Given the description of an element on the screen output the (x, y) to click on. 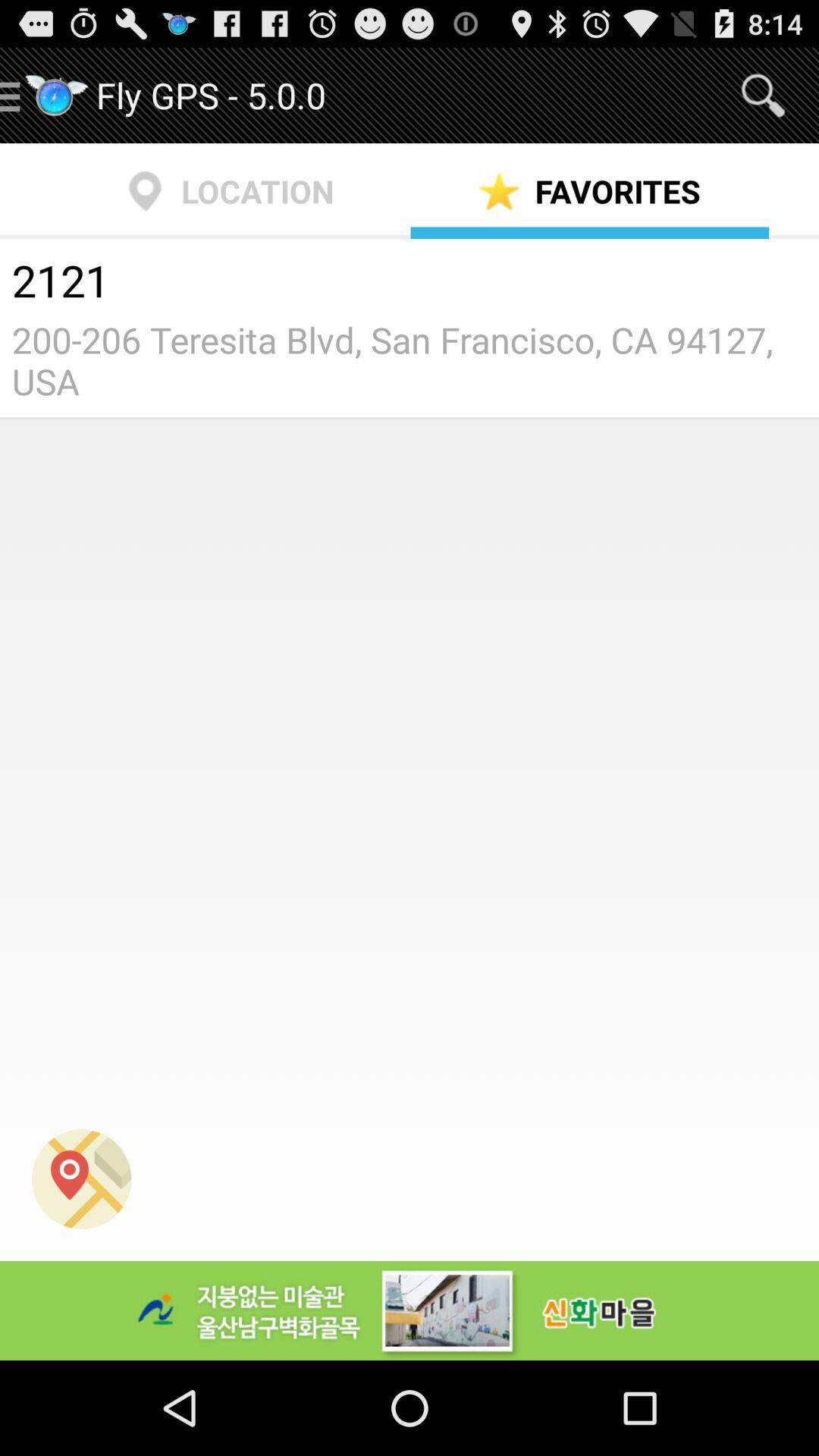
press icon at the bottom (409, 1310)
